Given the description of an element on the screen output the (x, y) to click on. 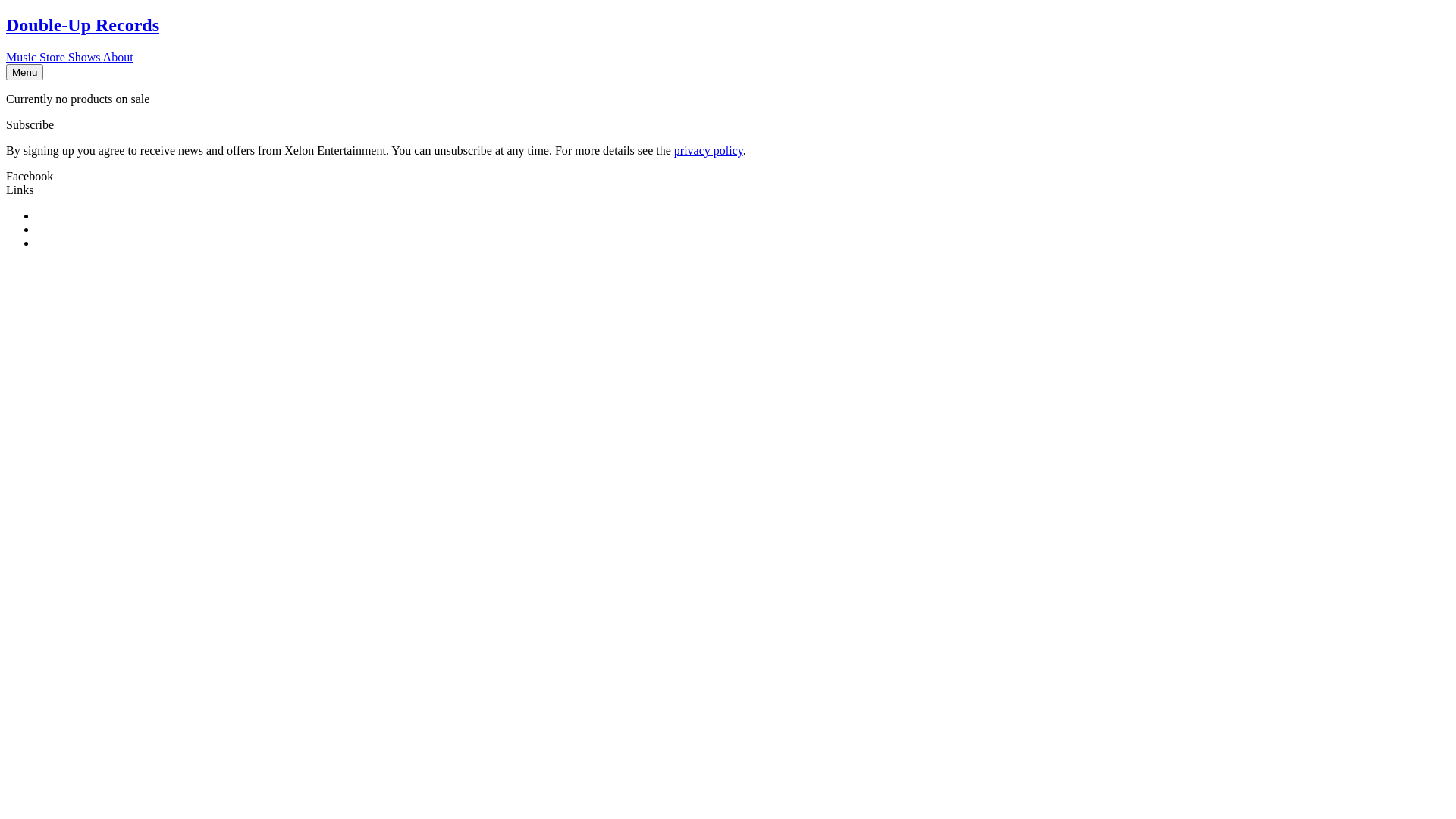
Music Element type: text (22, 56)
About Element type: text (118, 56)
Shows Element type: text (85, 56)
Menu Element type: text (24, 72)
privacy policy Element type: text (708, 150)
Store Element type: text (53, 56)
Double-Up Records Element type: text (82, 24)
